Given the description of an element on the screen output the (x, y) to click on. 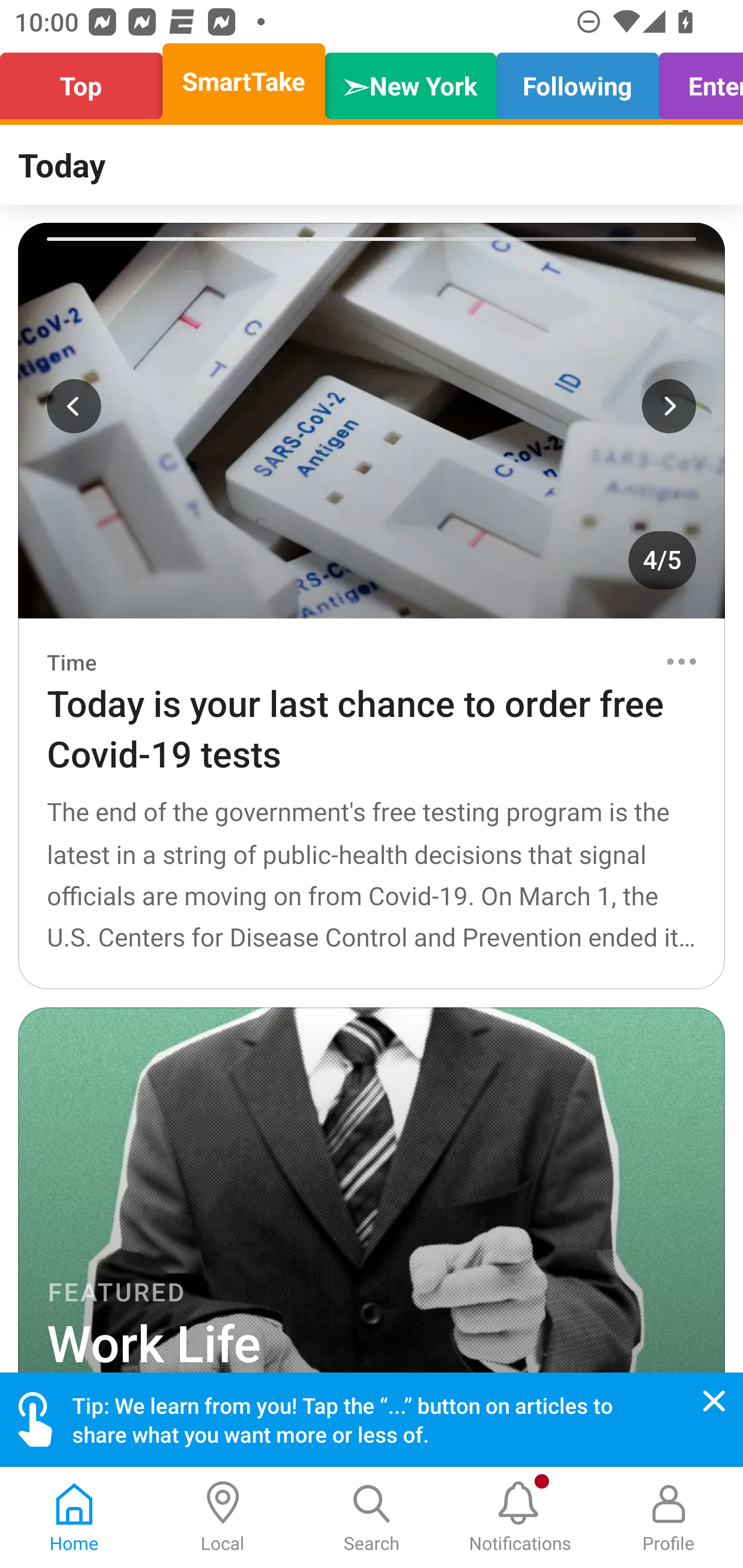
Top (86, 81)
SmartTake (243, 81)
➣New York (410, 81)
Following (577, 81)
Options (681, 661)
Close (714, 1401)
Local (222, 1517)
Search (371, 1517)
Notifications, New notification Notifications (519, 1517)
Profile (668, 1517)
